Given the description of an element on the screen output the (x, y) to click on. 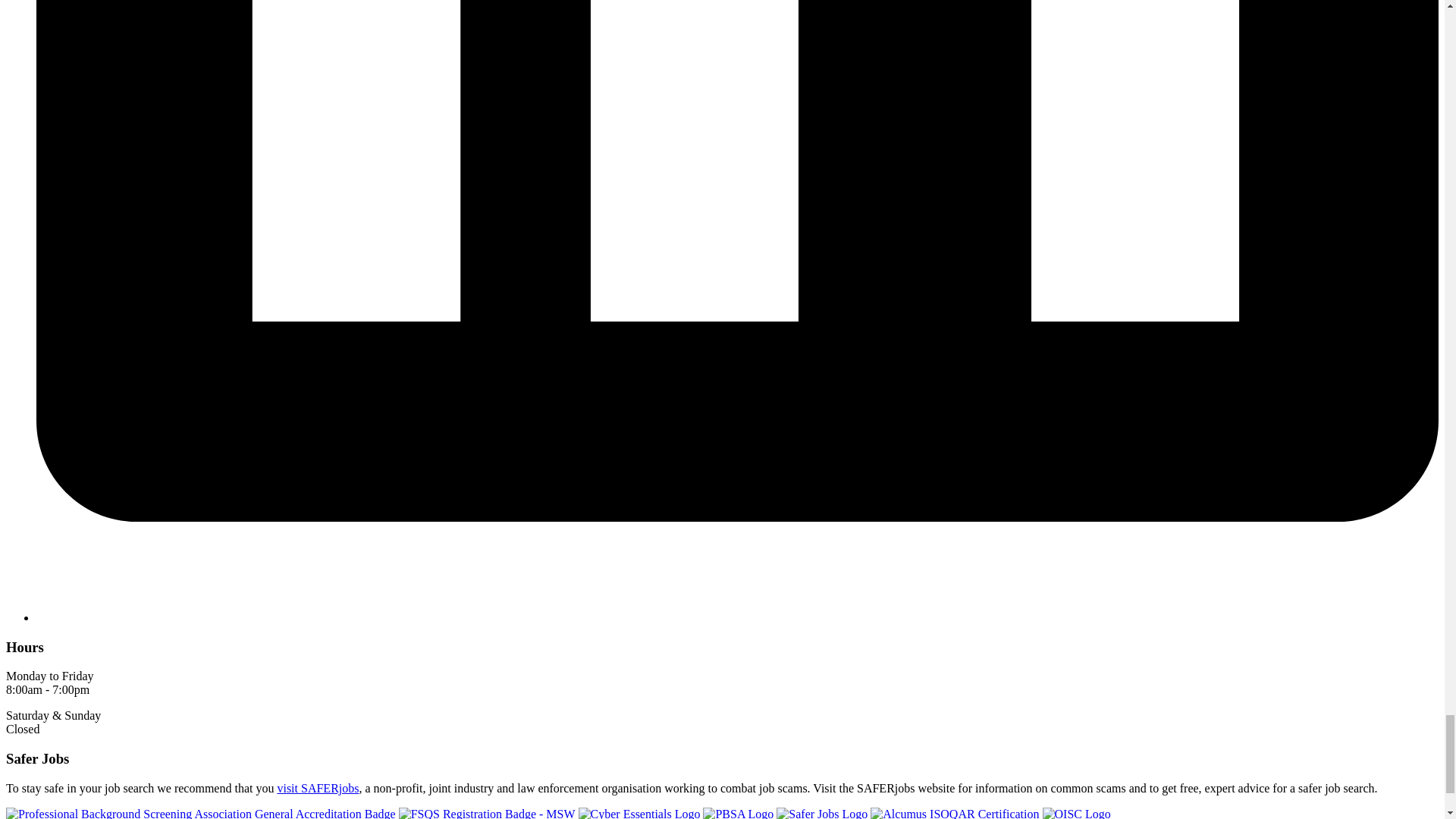
visit SAFERjobs (317, 788)
